Given the description of an element on the screen output the (x, y) to click on. 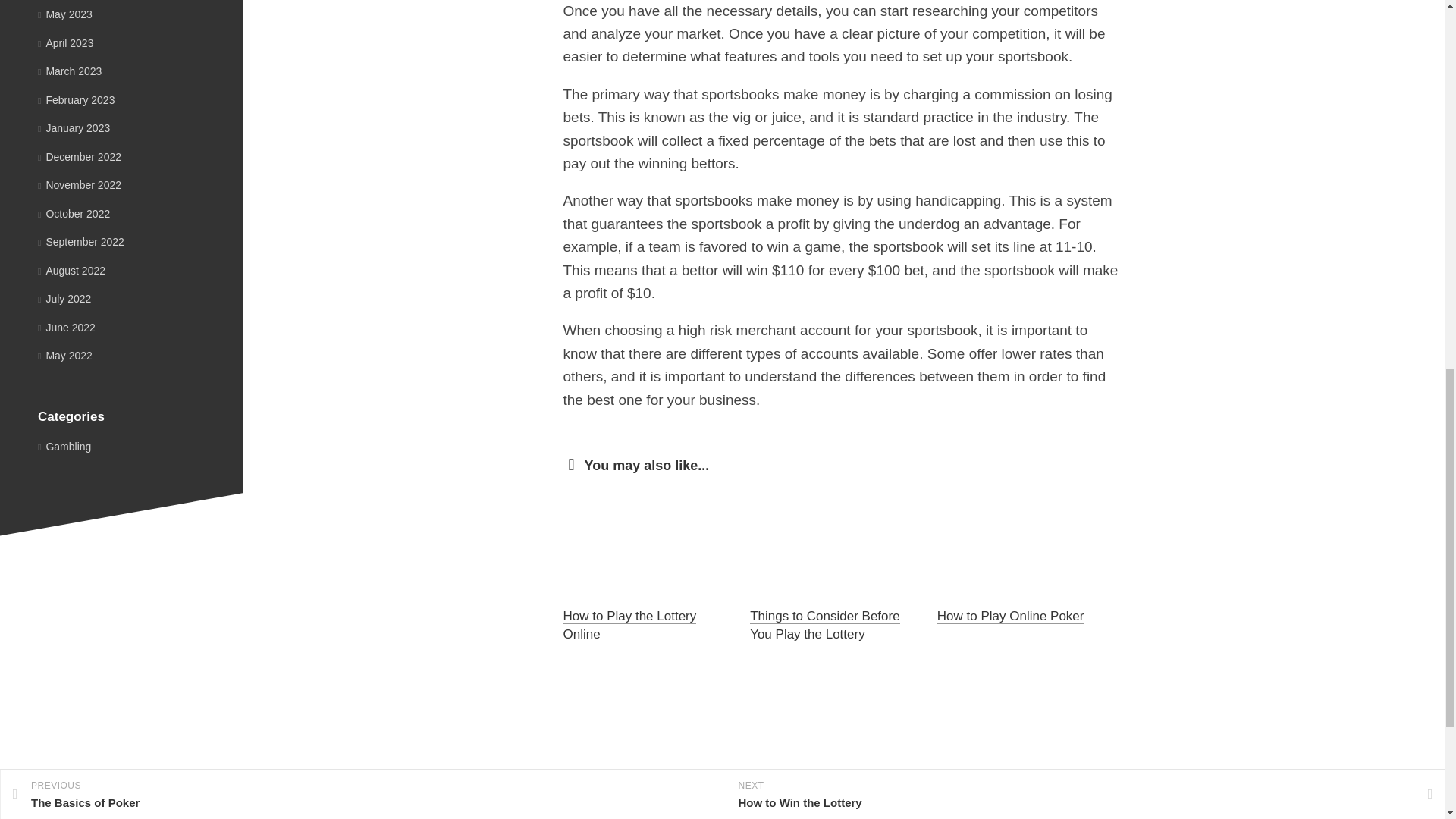
How to Play Online Poker (1010, 616)
Things to Consider Before You Play the Lottery (824, 625)
October 2022 (73, 214)
March 2023 (69, 70)
January 2023 (73, 128)
December 2022 (78, 155)
April 2023 (65, 42)
How to Play the Lottery Online (628, 625)
February 2023 (76, 100)
May 2023 (65, 14)
